Given the description of an element on the screen output the (x, y) to click on. 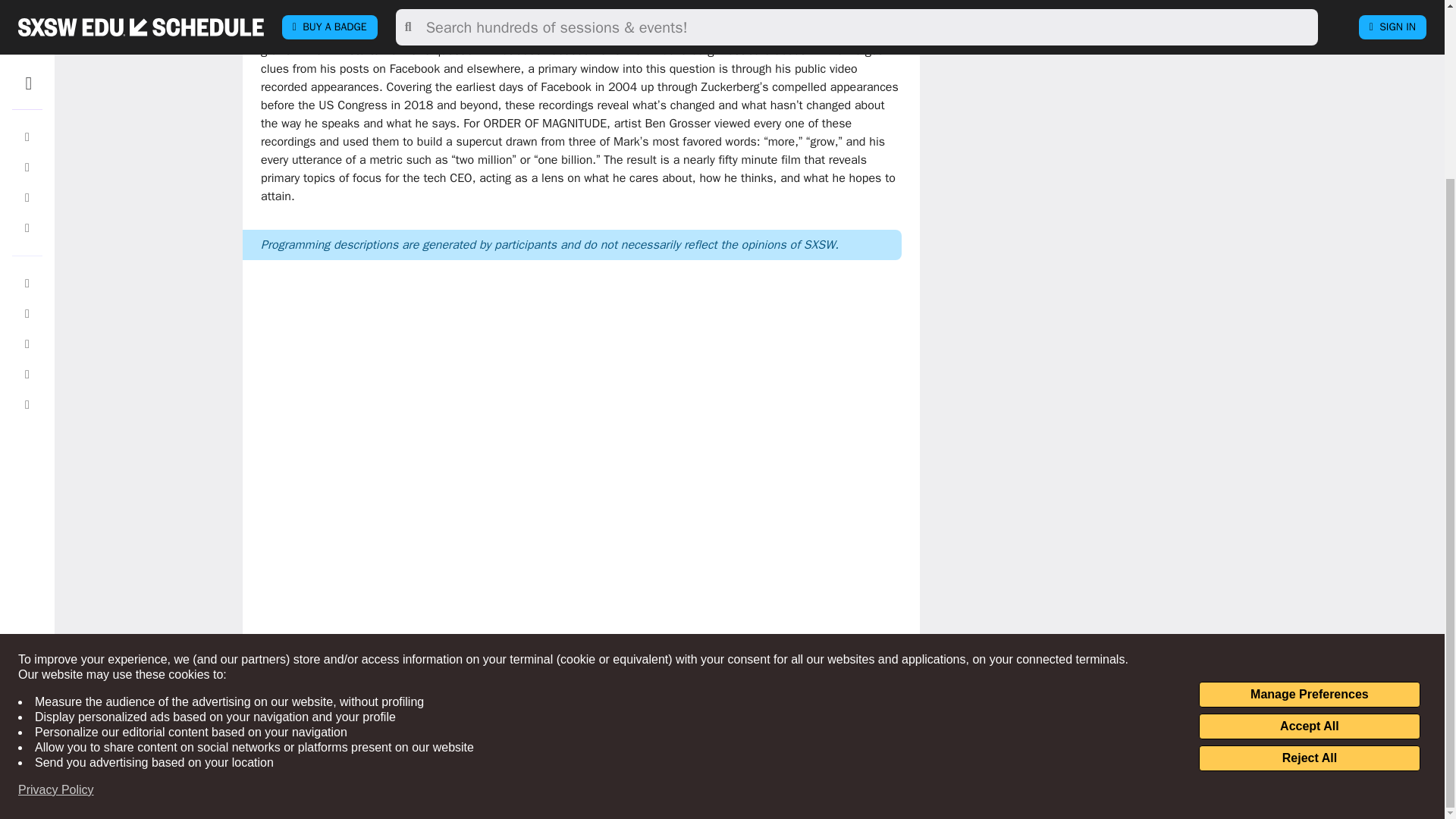
Reject All (1309, 539)
Privacy Policy (55, 571)
Manage Preferences (1309, 475)
Accept All (1309, 507)
